Given the description of an element on the screen output the (x, y) to click on. 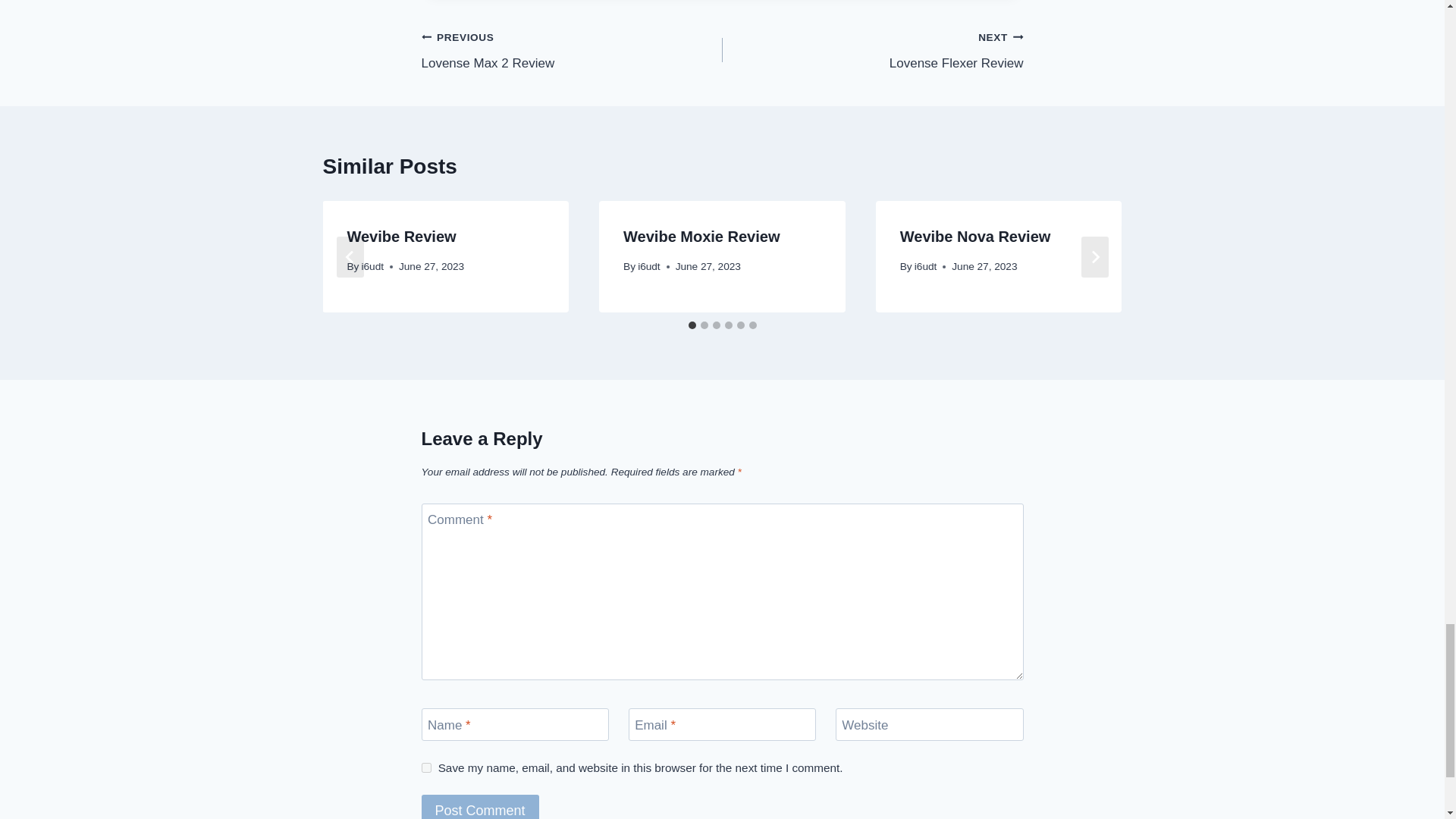
Post Comment (480, 806)
yes (872, 50)
